Given the description of an element on the screen output the (x, y) to click on. 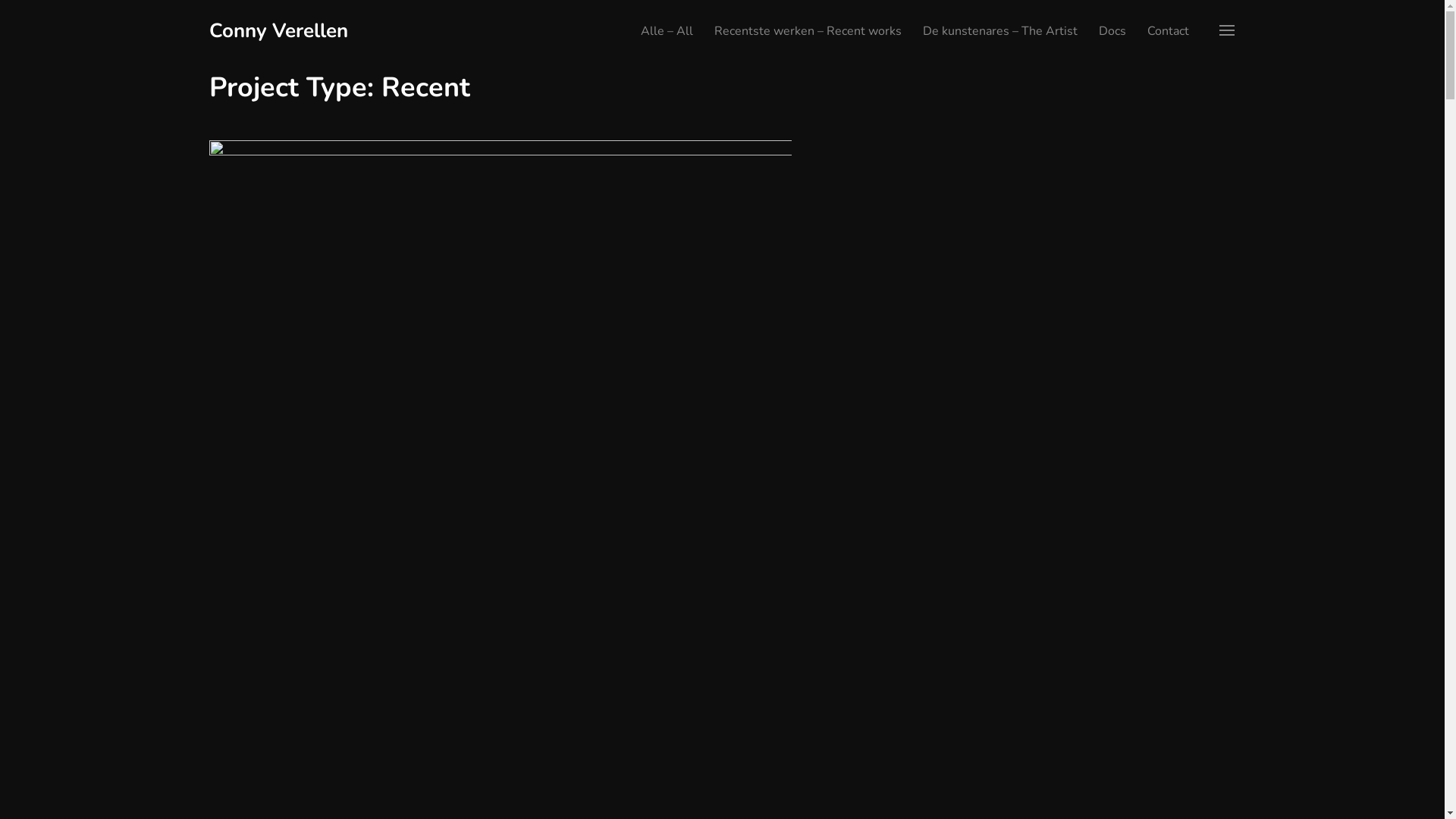
Docs Element type: text (1111, 31)
Contact Element type: text (1167, 31)
Conny Verellen Element type: text (278, 30)
